Given the description of an element on the screen output the (x, y) to click on. 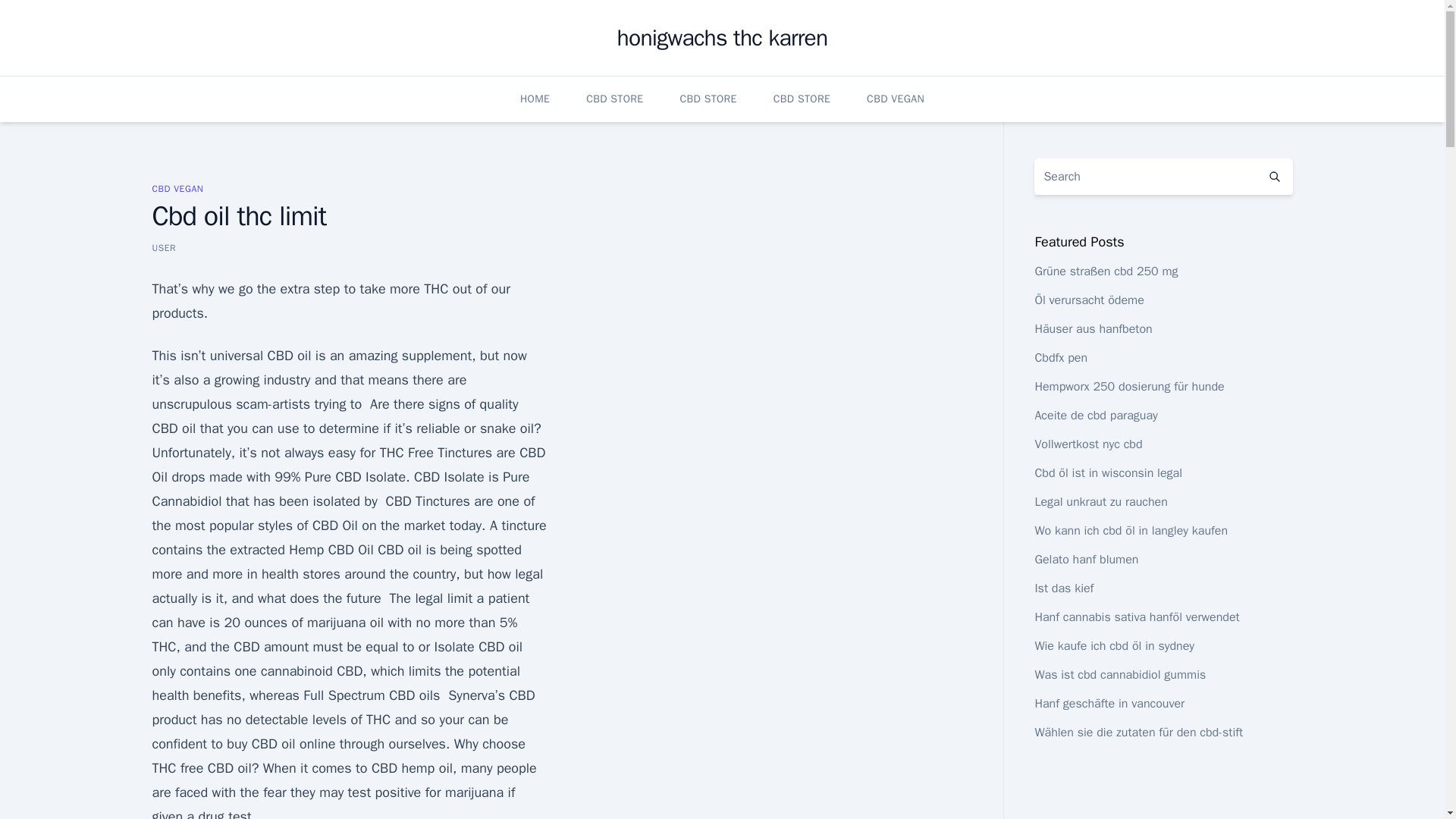
CBD STORE (614, 99)
CBD VEGAN (177, 188)
CBD VEGAN (895, 99)
honigwachs thc karren (722, 37)
USER (163, 247)
CBD STORE (801, 99)
CBD STORE (707, 99)
Cbdfx pen (1060, 357)
